Given the description of an element on the screen output the (x, y) to click on. 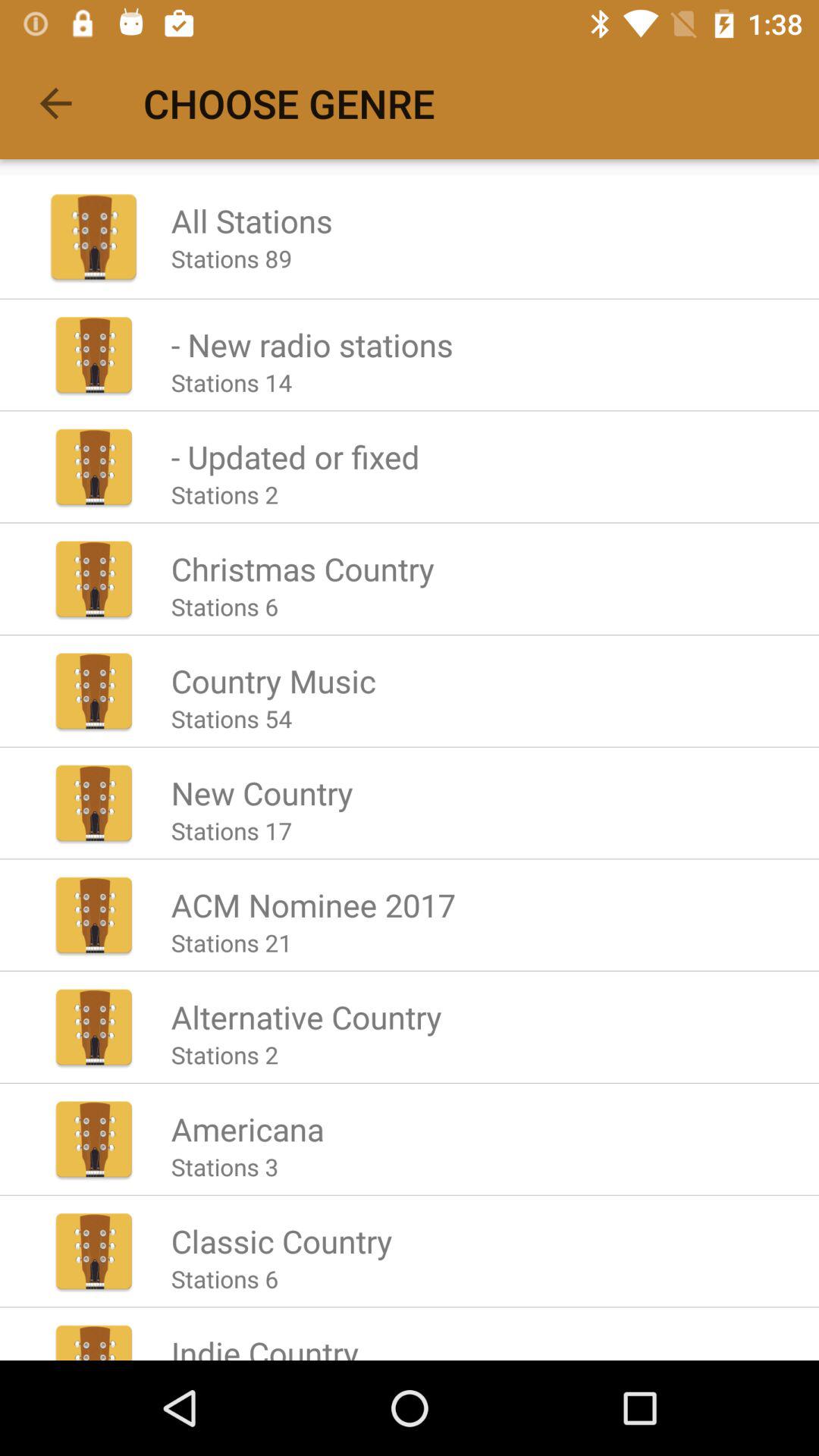
click the classic country (281, 1240)
